Given the description of an element on the screen output the (x, y) to click on. 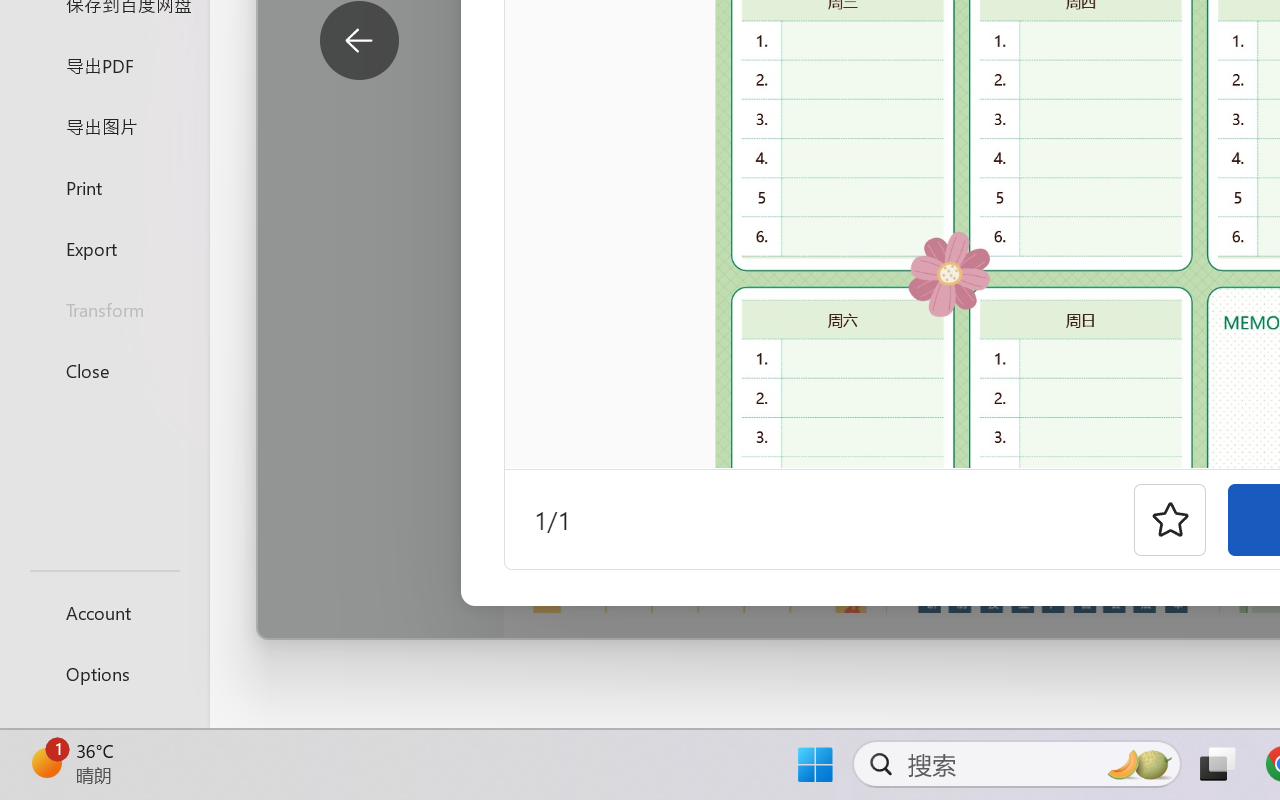
Print (104, 186)
Account (104, 612)
Export (104, 248)
Options (104, 673)
Transform (104, 309)
